Given the description of an element on the screen output the (x, y) to click on. 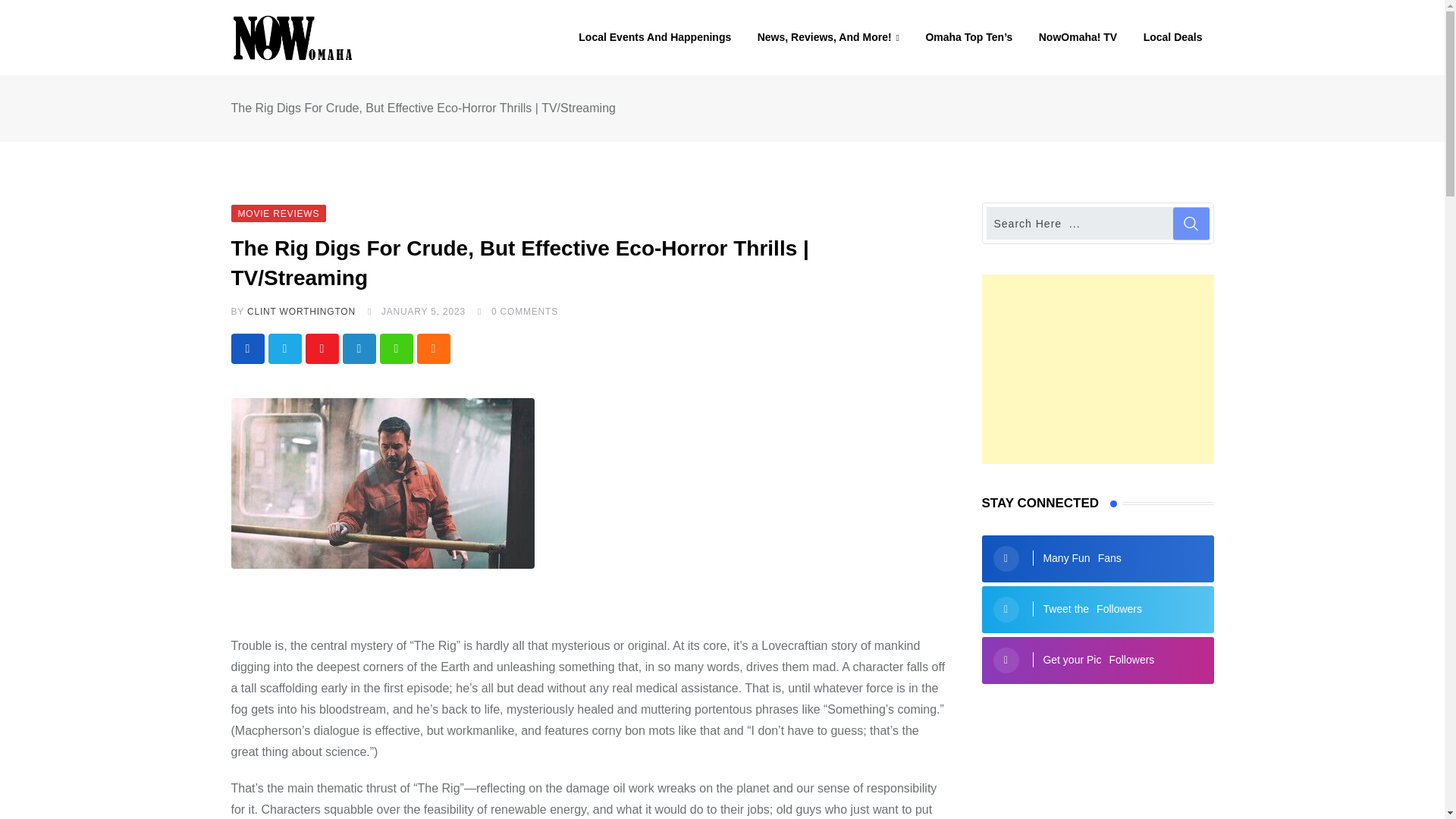
NowOmaha! TV (1077, 37)
MOVIE REVIEWS (278, 212)
Local Events And Happenings (654, 37)
Posts by Clint Worthington (301, 311)
News, Reviews, And More! (828, 37)
CLINT WORTHINGTON (301, 311)
Advertisement (1096, 369)
Local Deals (1173, 37)
